Given the description of an element on the screen output the (x, y) to click on. 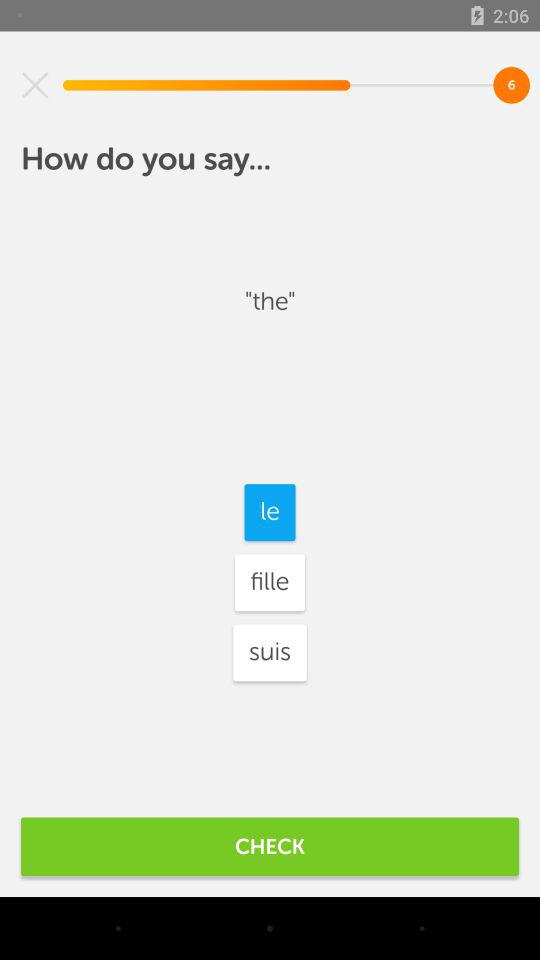
flip to suis icon (269, 652)
